Given the description of an element on the screen output the (x, y) to click on. 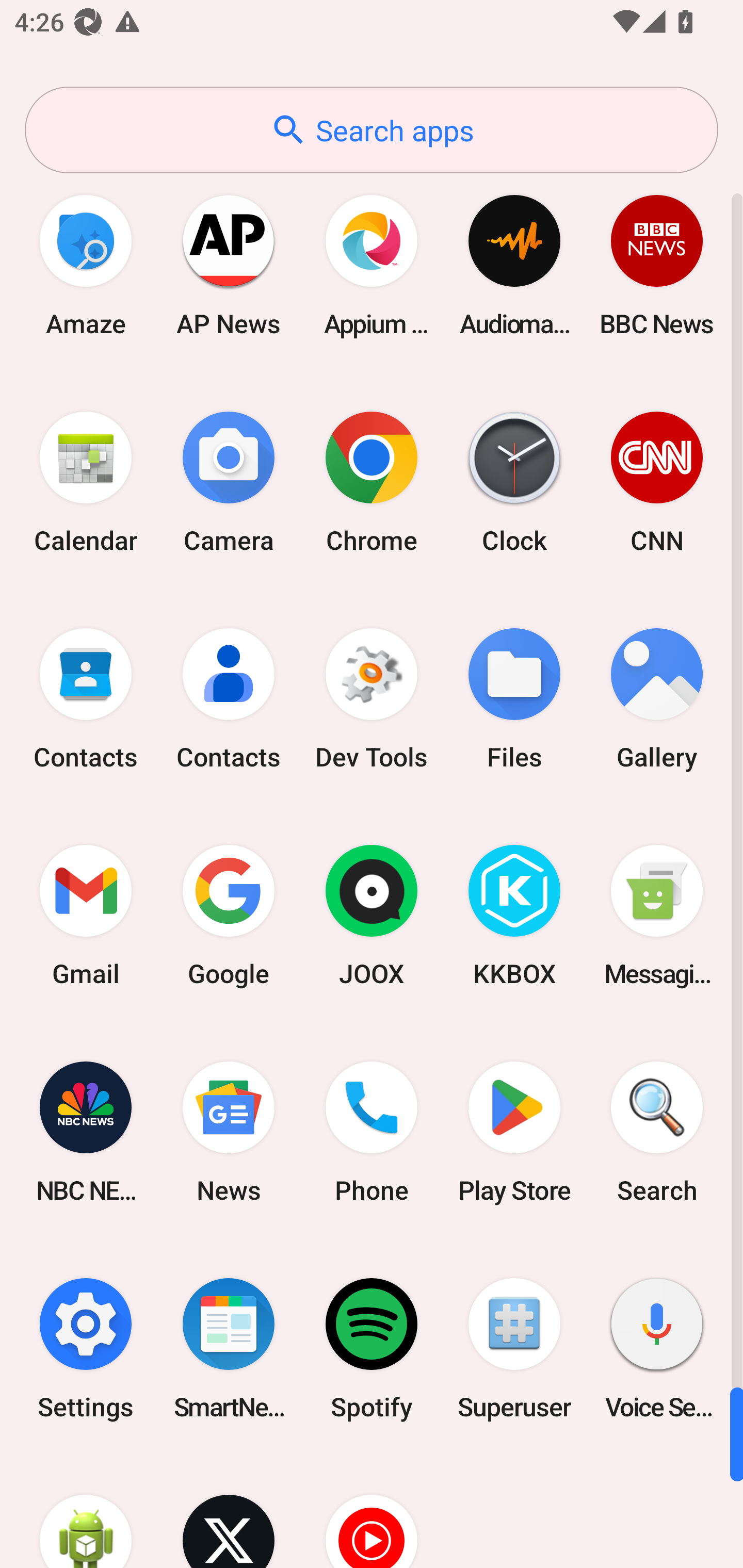
  Search apps (371, 130)
Amaze (85, 264)
AP News (228, 264)
Appium Settings (371, 264)
Audio­mack (514, 264)
BBC News (656, 264)
Calendar (85, 482)
Camera (228, 482)
Chrome (371, 482)
Clock (514, 482)
CNN (656, 482)
Contacts (85, 699)
Contacts (228, 699)
Dev Tools (371, 699)
Files (514, 699)
Gallery (656, 699)
Gmail (85, 915)
Google (228, 915)
JOOX (371, 915)
KKBOX (514, 915)
Messaging (656, 915)
NBC NEWS (85, 1131)
News (228, 1131)
Phone (371, 1131)
Play Store (514, 1131)
Search (656, 1131)
Settings (85, 1348)
SmartNews (228, 1348)
Spotify (371, 1348)
Superuser (514, 1348)
Voice Search (656, 1348)
WebView Browser Tester (85, 1512)
X (228, 1512)
YT Music (371, 1512)
